Given the description of an element on the screen output the (x, y) to click on. 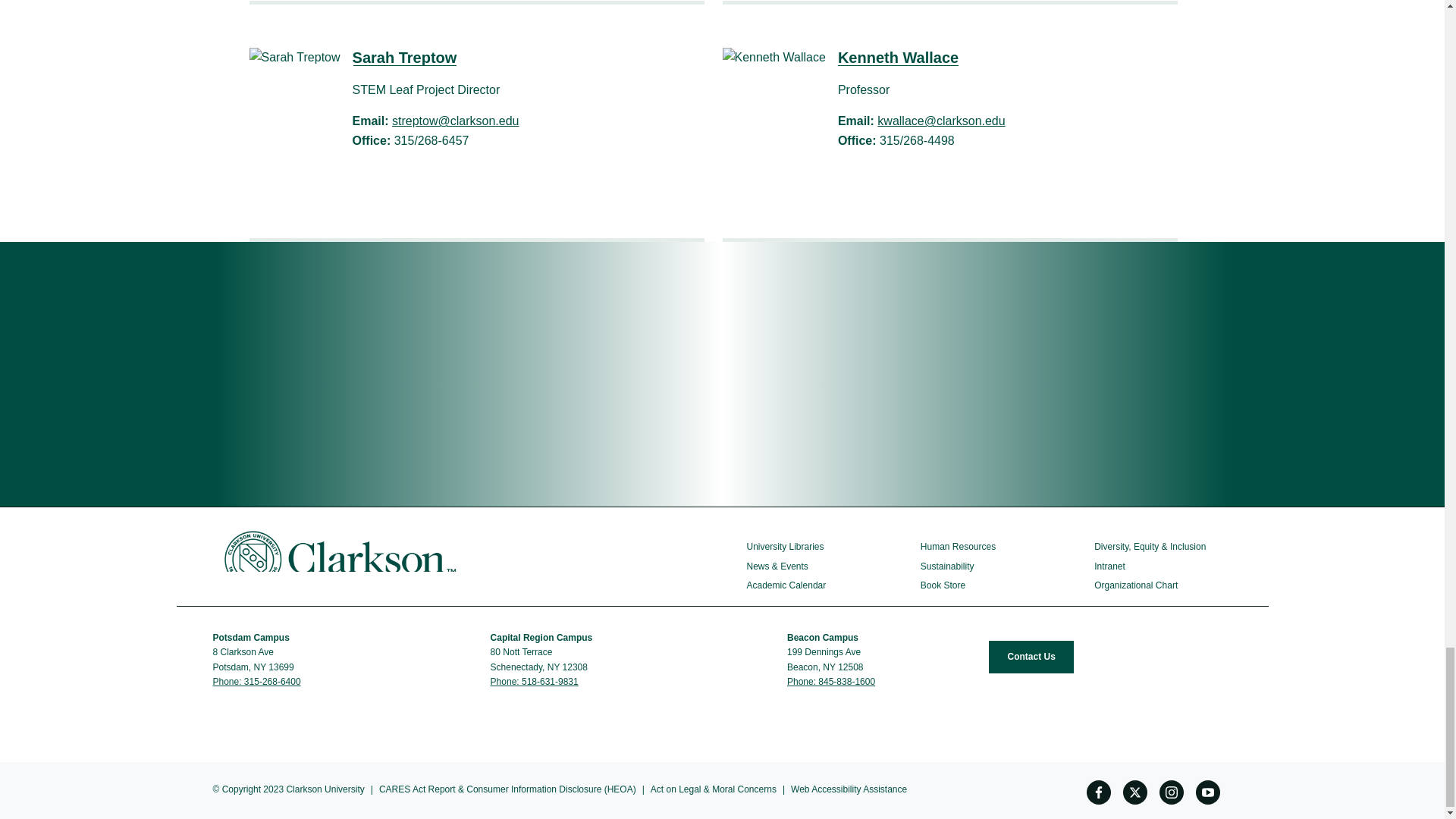
Potsdam Campus (252, 637)
Web Accessibility Assistance (848, 788)
Capital Region Campus (542, 637)
